Given the description of an element on the screen output the (x, y) to click on. 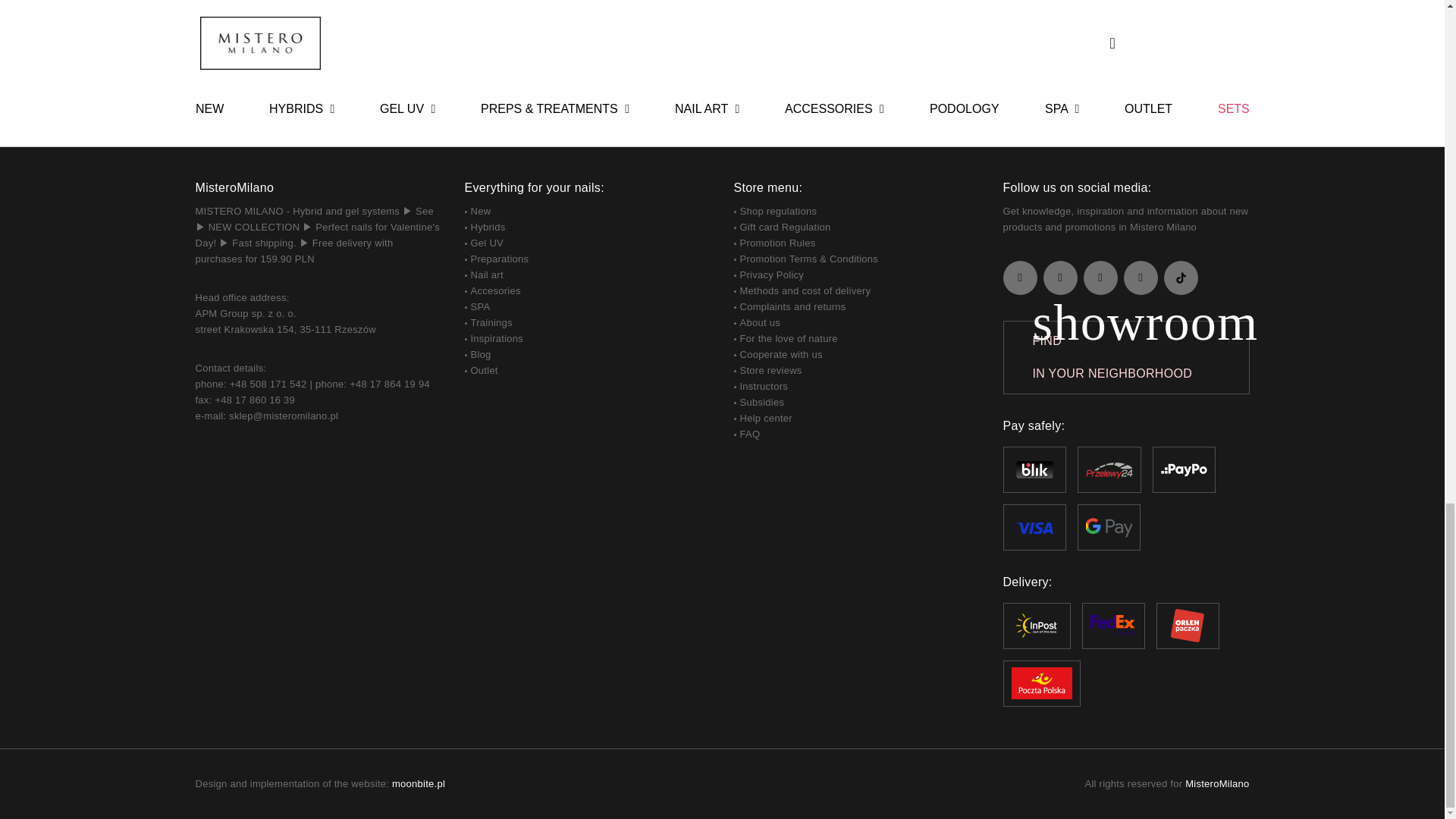
MisteroMilano (1217, 783)
